Given the description of an element on the screen output the (x, y) to click on. 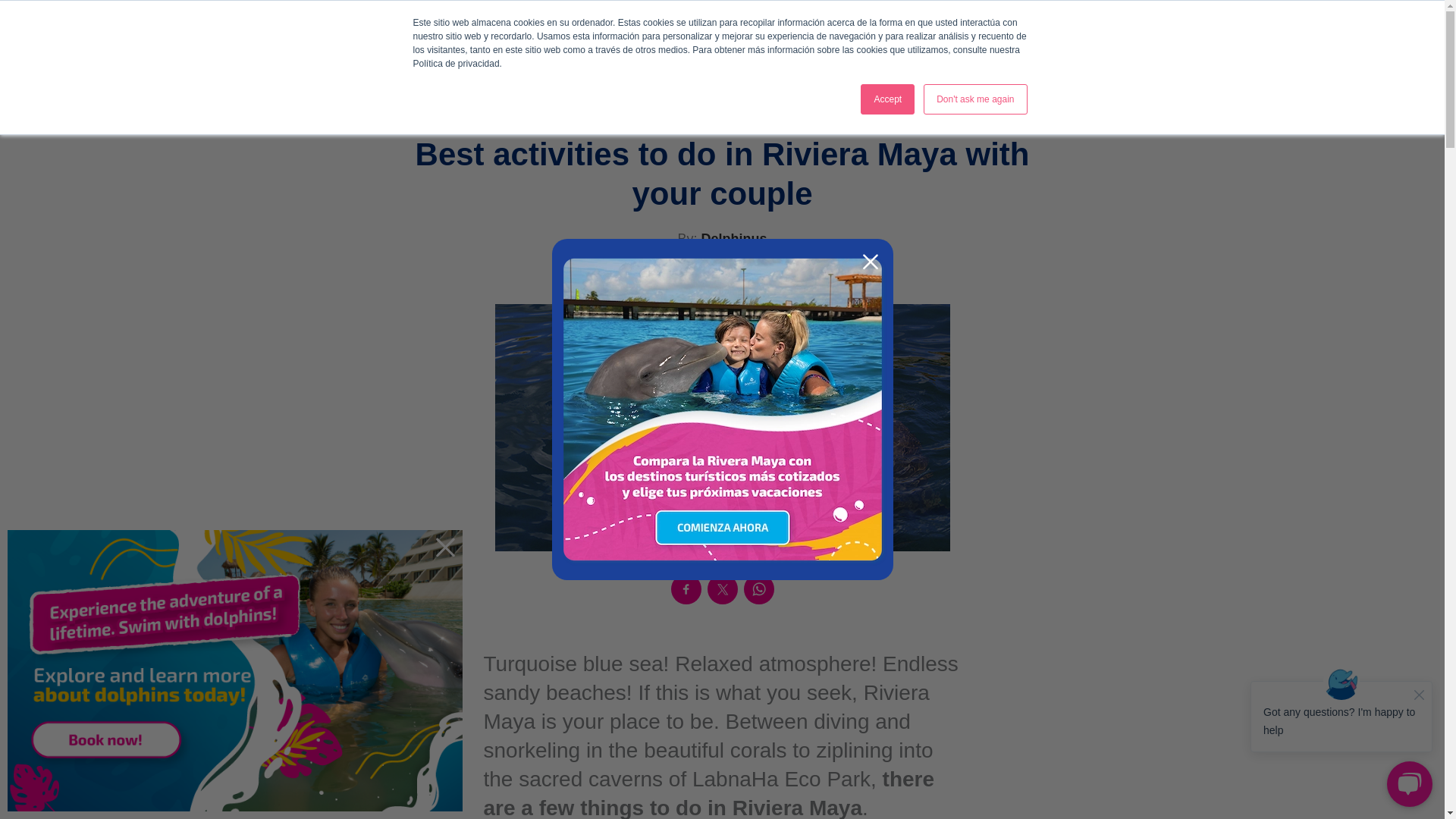
Locations (734, 59)
Accept (887, 99)
Logo Delphinus nado con delfines (329, 61)
Experiences (819, 59)
Book now (1148, 60)
Popup CTA (235, 670)
Delphinus (733, 238)
Conservation (907, 59)
Don't ask me again (974, 99)
Popup CTA (722, 409)
Activities in Riviera Maya (721, 124)
Travel guide (996, 59)
